Given the description of an element on the screen output the (x, y) to click on. 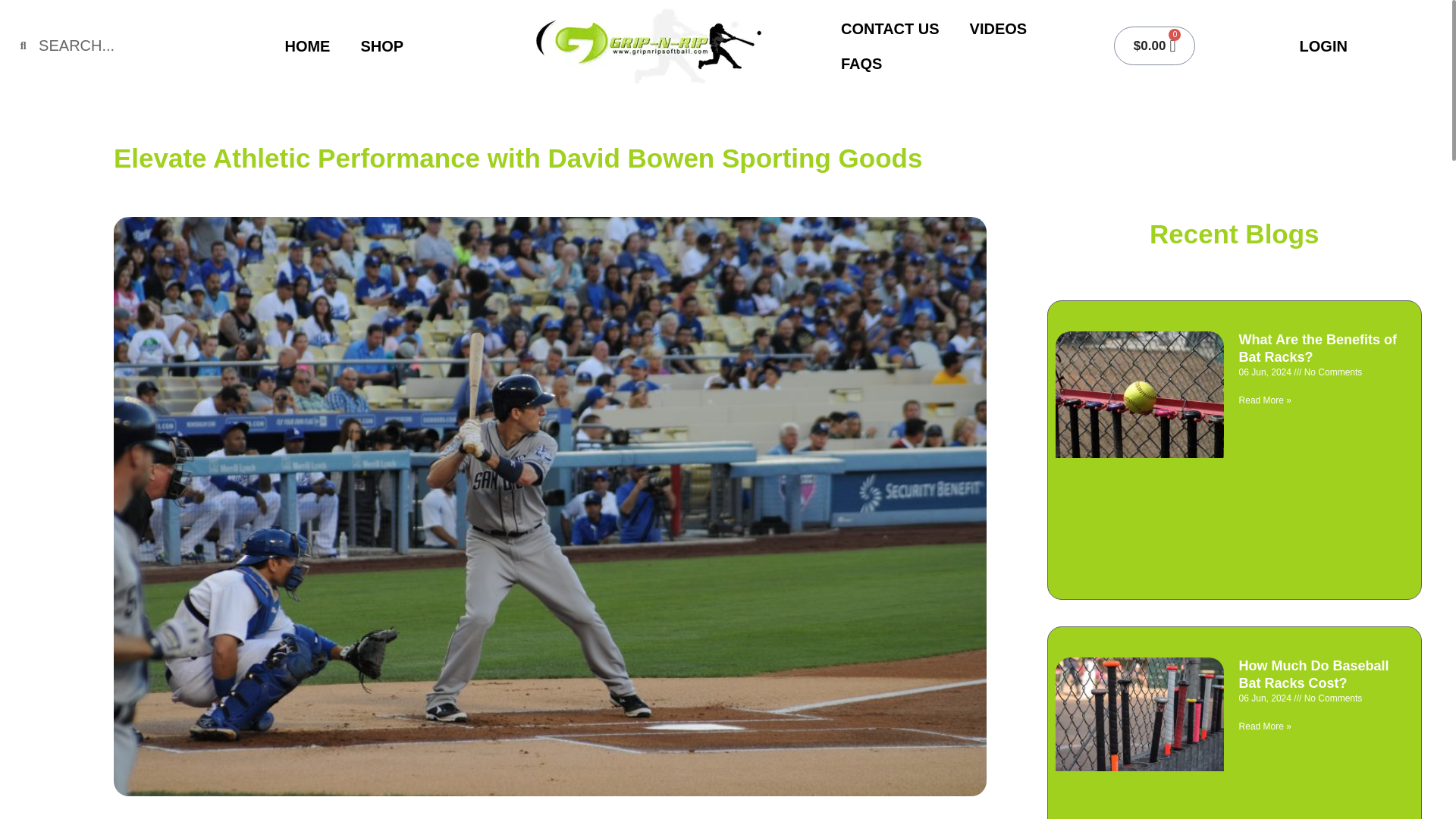
LOGIN (1323, 45)
HOME (307, 45)
Search (121, 45)
CONTACT US (890, 27)
SHOP (382, 45)
VIDEOS (998, 27)
View your shopping cart (1155, 46)
FAQS (860, 62)
